Given the description of an element on the screen output the (x, y) to click on. 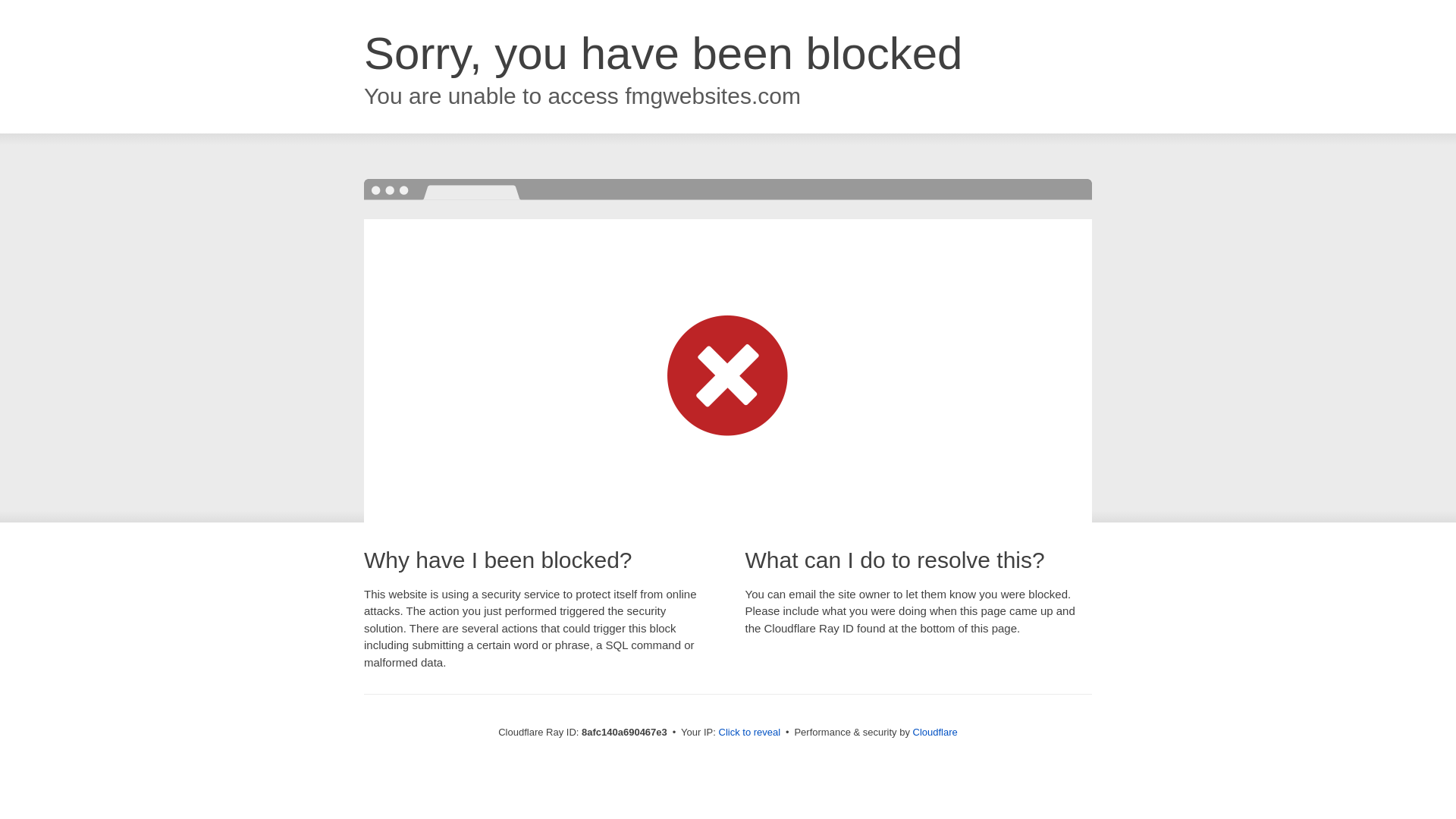
Cloudflare (935, 731)
Click to reveal (749, 732)
